Given the description of an element on the screen output the (x, y) to click on. 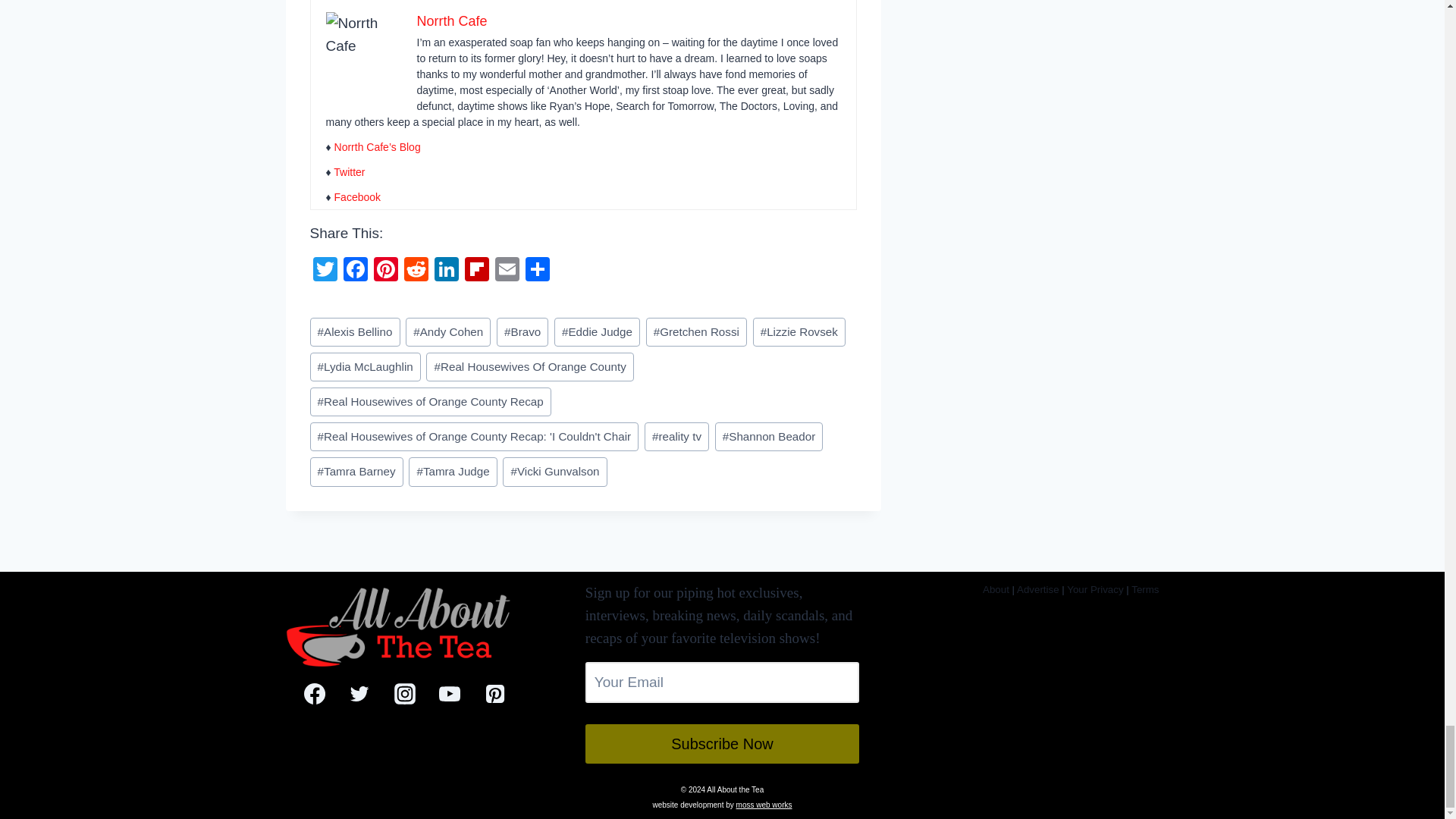
Reddit (415, 271)
Facebook (354, 271)
Flipboard (476, 271)
Pinterest (384, 271)
LinkedIn (445, 271)
Twitter (349, 172)
Twitter (323, 271)
Twitter (323, 271)
Norrth Cafe (451, 20)
Facebook (357, 196)
